Given the description of an element on the screen output the (x, y) to click on. 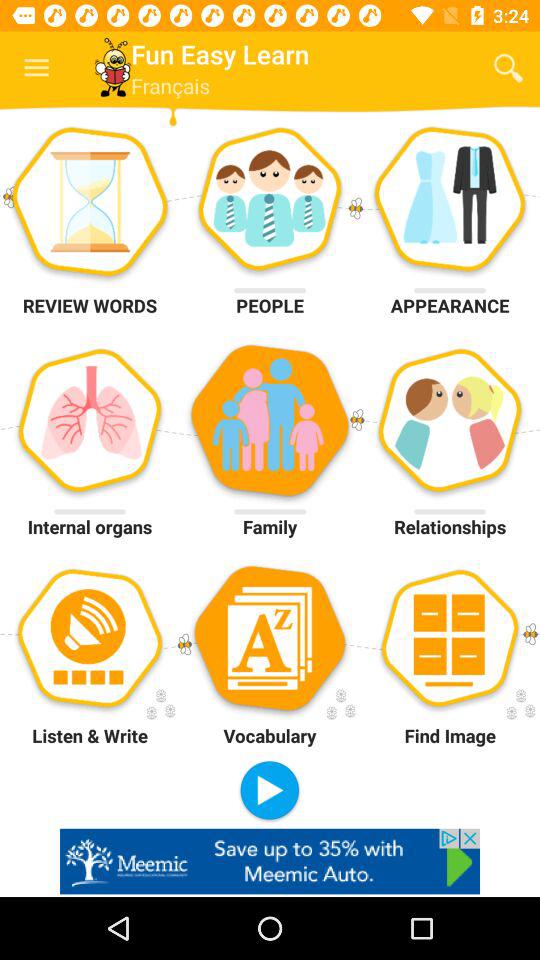
open advertisement (270, 861)
